Given the description of an element on the screen output the (x, y) to click on. 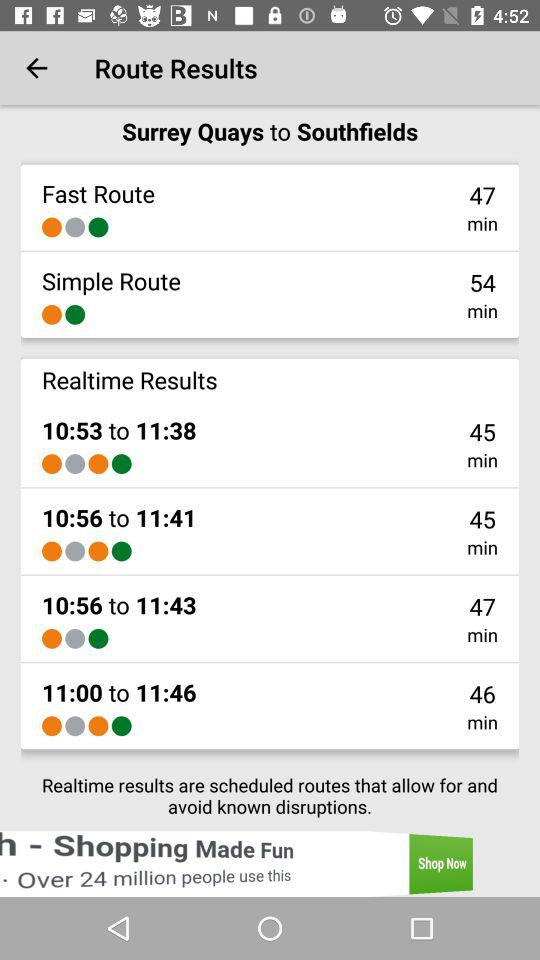
press the icon above realtime results (51, 314)
